Given the description of an element on the screen output the (x, y) to click on. 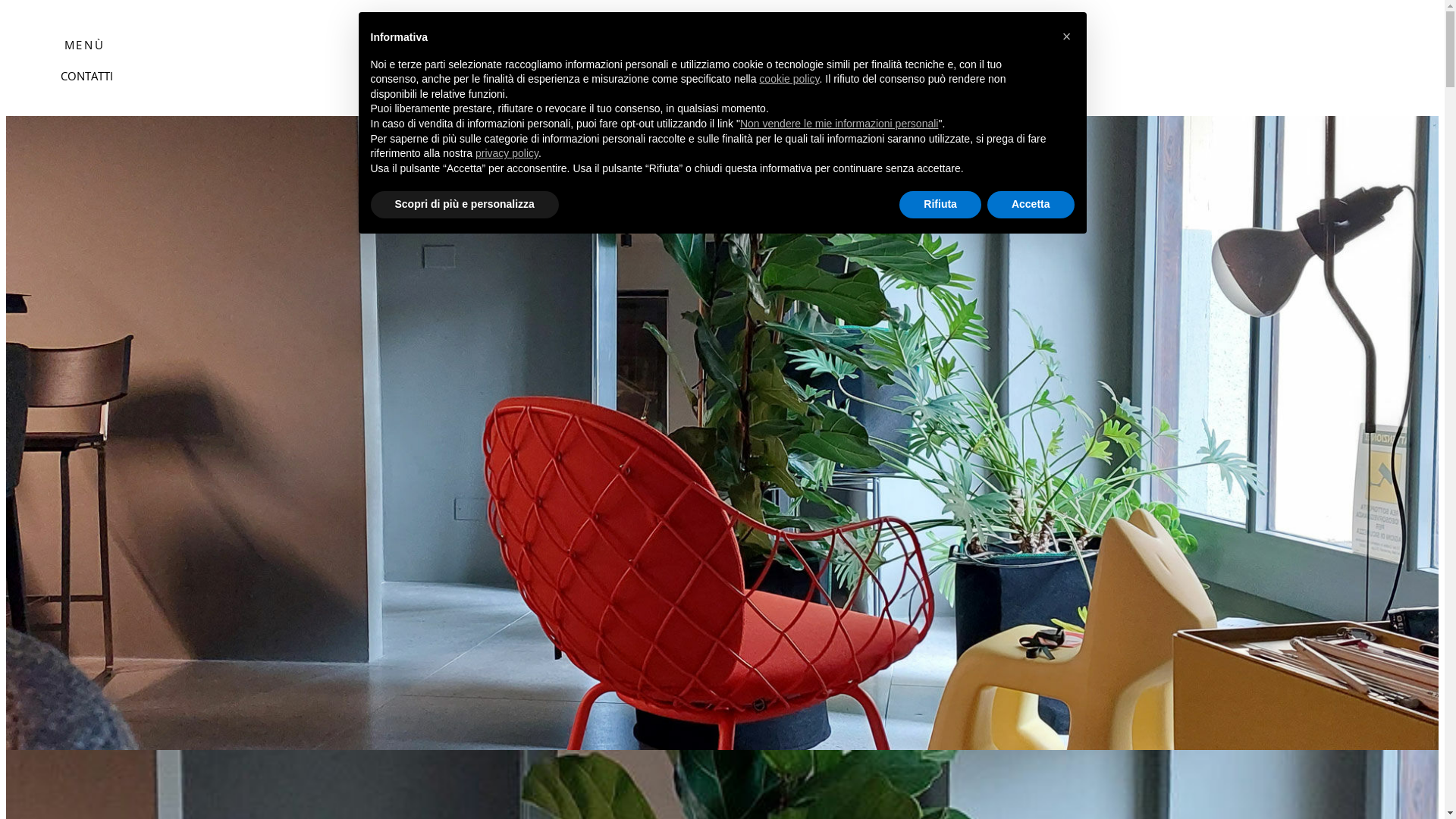
cookie policy Element type: text (789, 78)
Accetta Element type: text (1030, 204)
Non vendere le mie informazioni personali Element type: text (839, 123)
Rifiuta Element type: text (940, 204)
privacy policy Element type: text (506, 153)
CONTATTI Element type: text (86, 75)
